Given the description of an element on the screen output the (x, y) to click on. 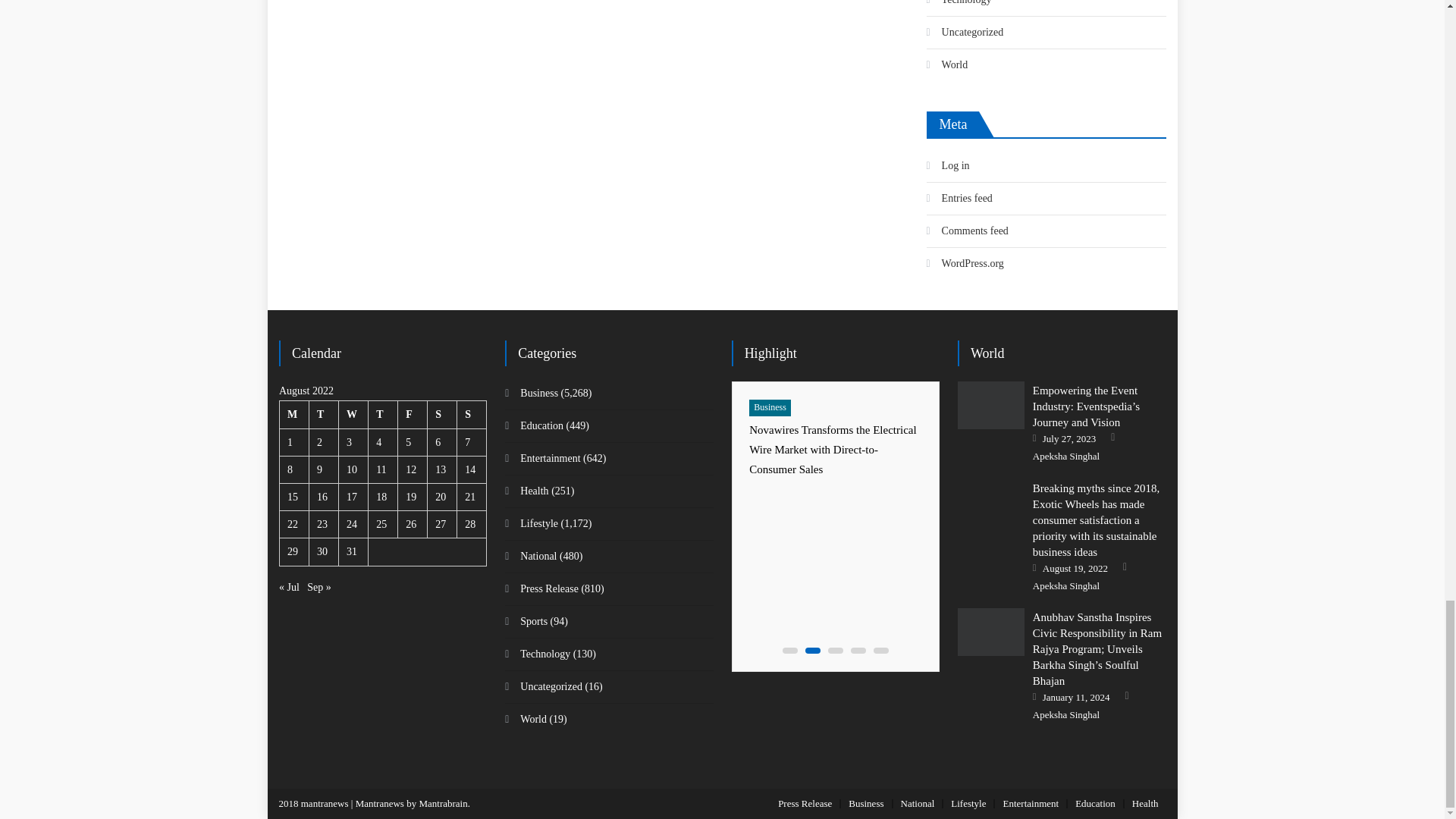
Wednesday (353, 414)
Saturday (442, 414)
Friday (412, 414)
Thursday (382, 414)
Sunday (471, 414)
Tuesday (323, 414)
Monday (293, 414)
